Given the description of an element on the screen output the (x, y) to click on. 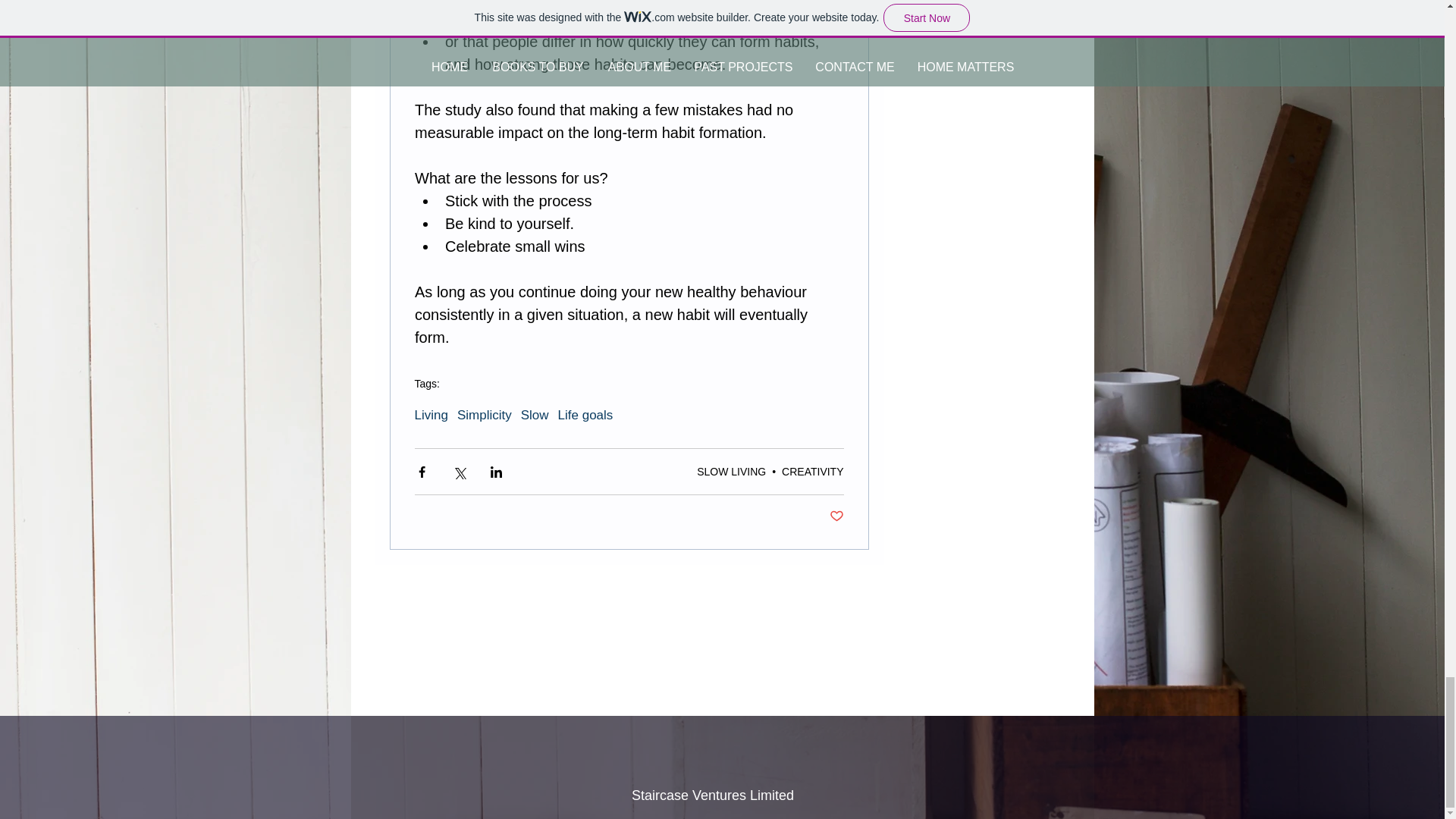
Living (429, 415)
Post not marked as liked (836, 516)
SLOW LIVING (731, 471)
CREATIVITY (812, 471)
Simplicity (484, 415)
Slow (534, 415)
Life goals (584, 415)
